Given the description of an element on the screen output the (x, y) to click on. 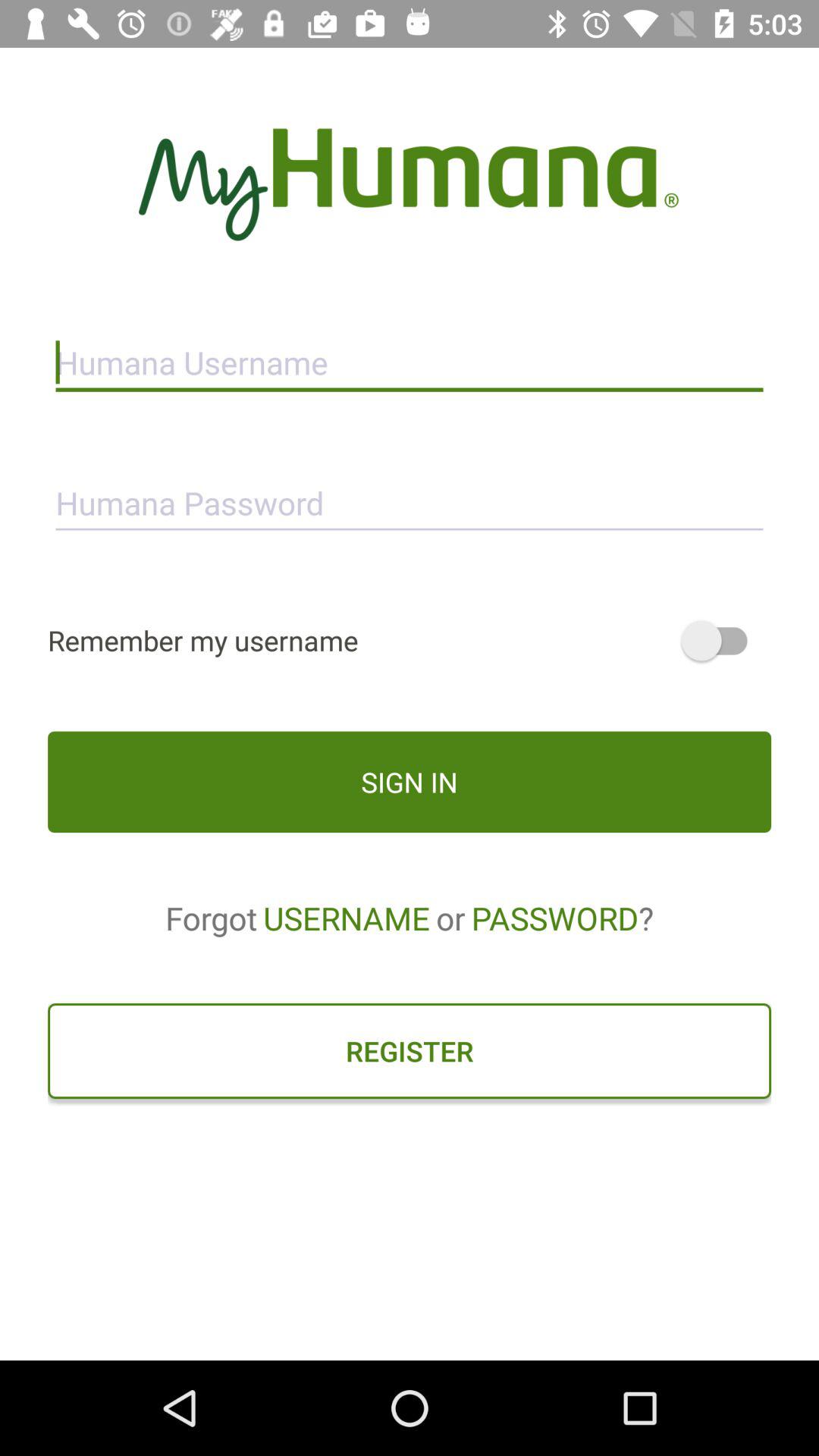
press icon below the forgot (409, 1050)
